Given the description of an element on the screen output the (x, y) to click on. 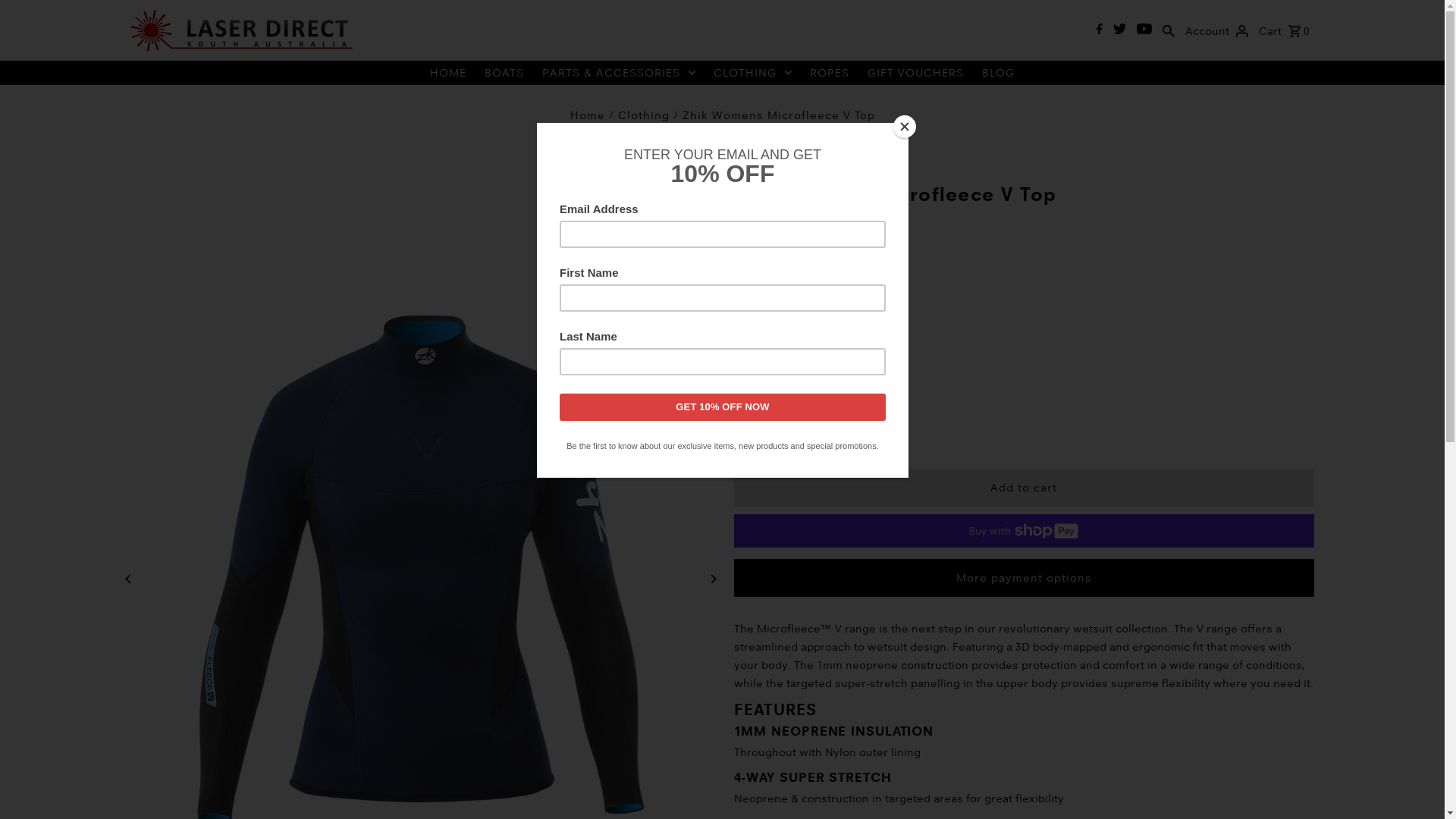
HOME Element type: text (447, 72)
BOATS Element type: text (503, 72)
Increase quantity for Zhik Womens Microfleece V Top
+ Element type: text (881, 430)
GIFT VOUCHERS Element type: text (915, 72)
ROPES Element type: text (829, 72)
PARTS & ACCESSORIES Element type: text (618, 72)
More payment options Element type: text (1024, 577)
CLOTHING Element type: text (752, 72)
Click to zoom Element type: hover (685, 207)
Clothing Element type: text (642, 114)
Add to cart Element type: text (1024, 487)
Decrease quantity for Zhik Womens Microfleece V Top
- Element type: text (806, 430)
BLOG Element type: text (998, 72)
Home Element type: text (587, 114)
View size chart Element type: text (773, 382)
